Given the description of an element on the screen output the (x, y) to click on. 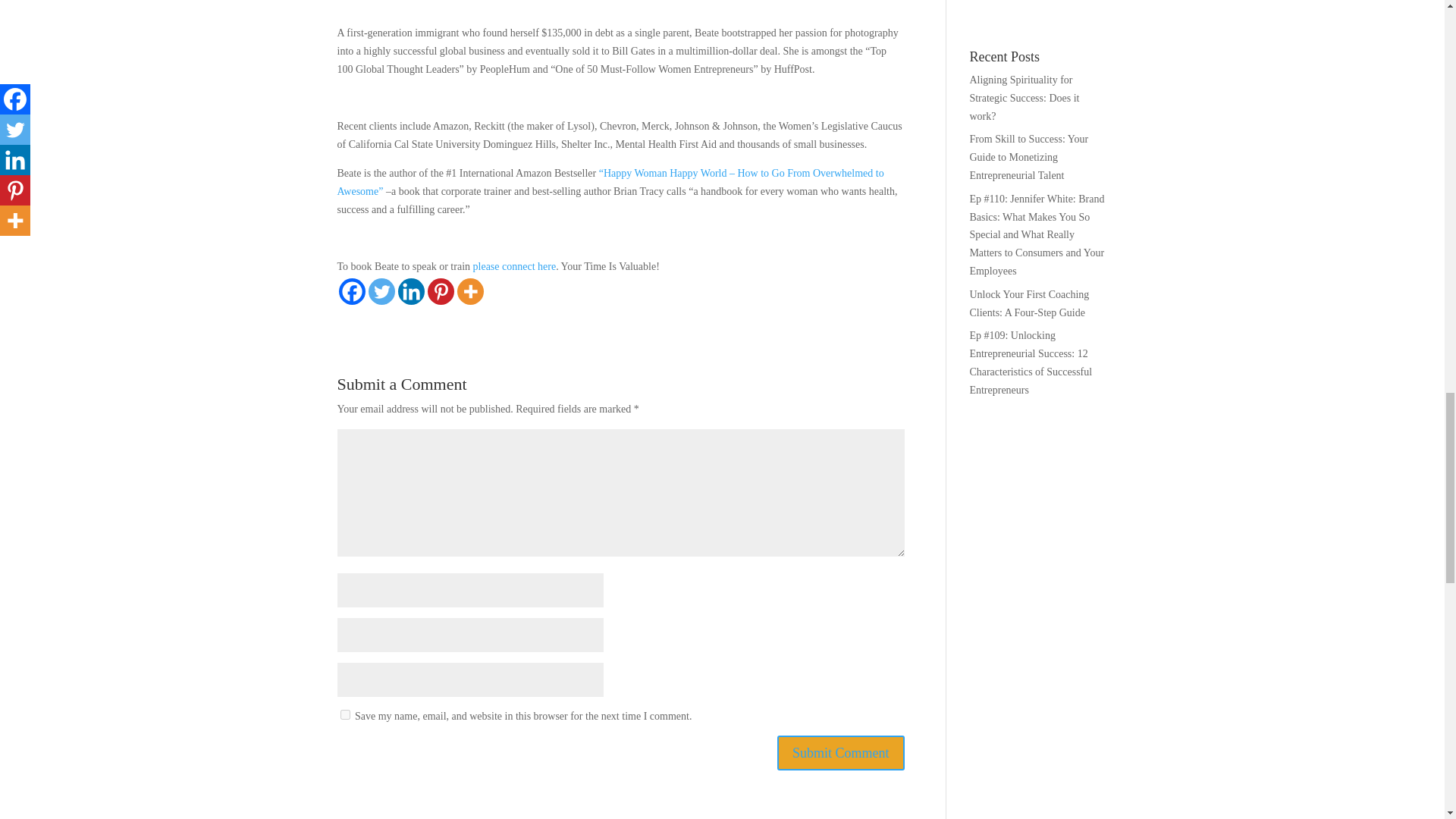
Linkedin (410, 291)
Submit Comment (840, 752)
Twitter (381, 291)
More (470, 291)
yes (344, 714)
Pinterest (441, 291)
Facebook (351, 291)
